Given the description of an element on the screen output the (x, y) to click on. 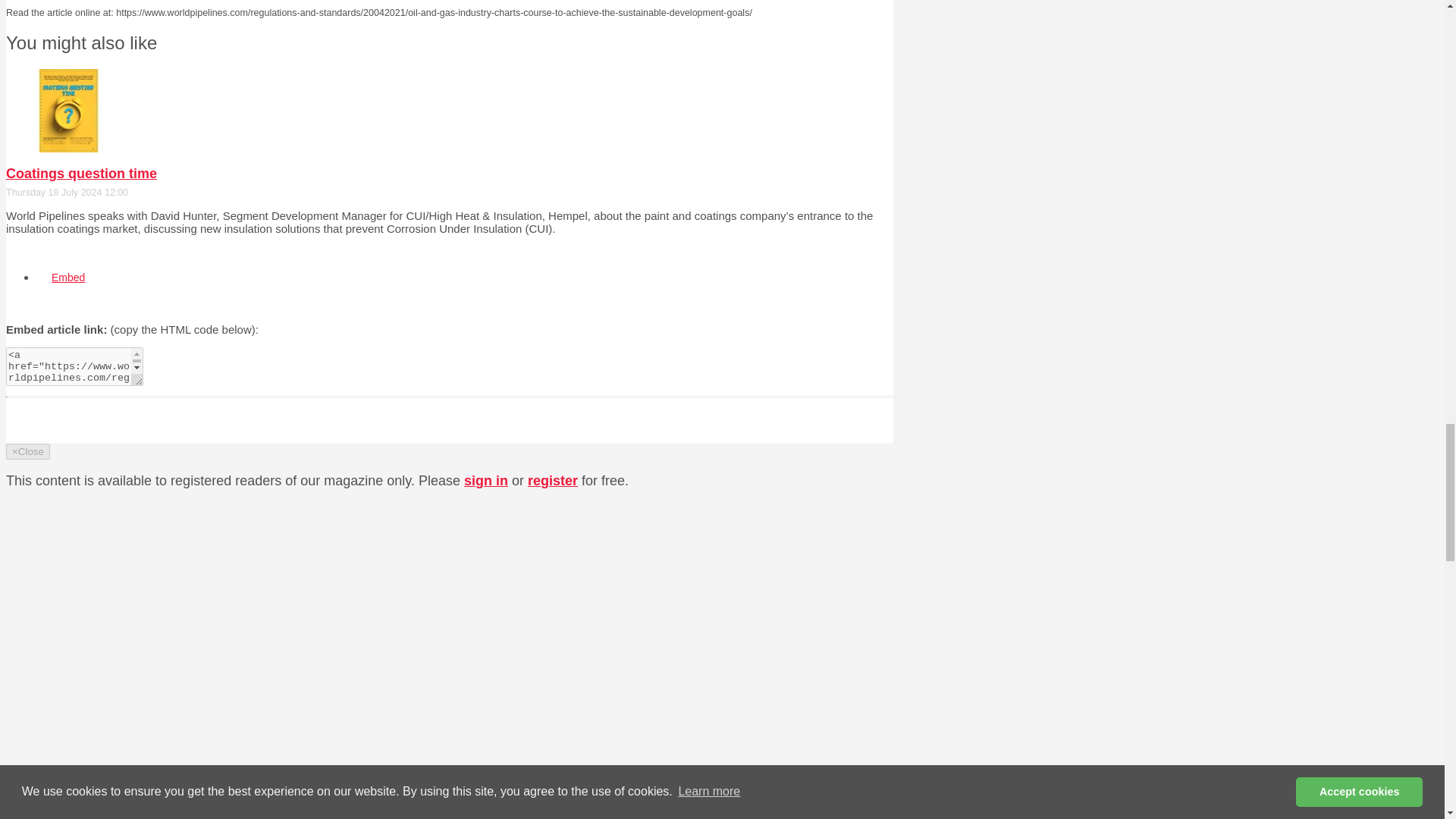
sign in (486, 480)
Embed (68, 277)
3rd party ad content (774, 534)
Coatings question time (81, 173)
register (552, 480)
3rd party ad content (774, 733)
